Given the description of an element on the screen output the (x, y) to click on. 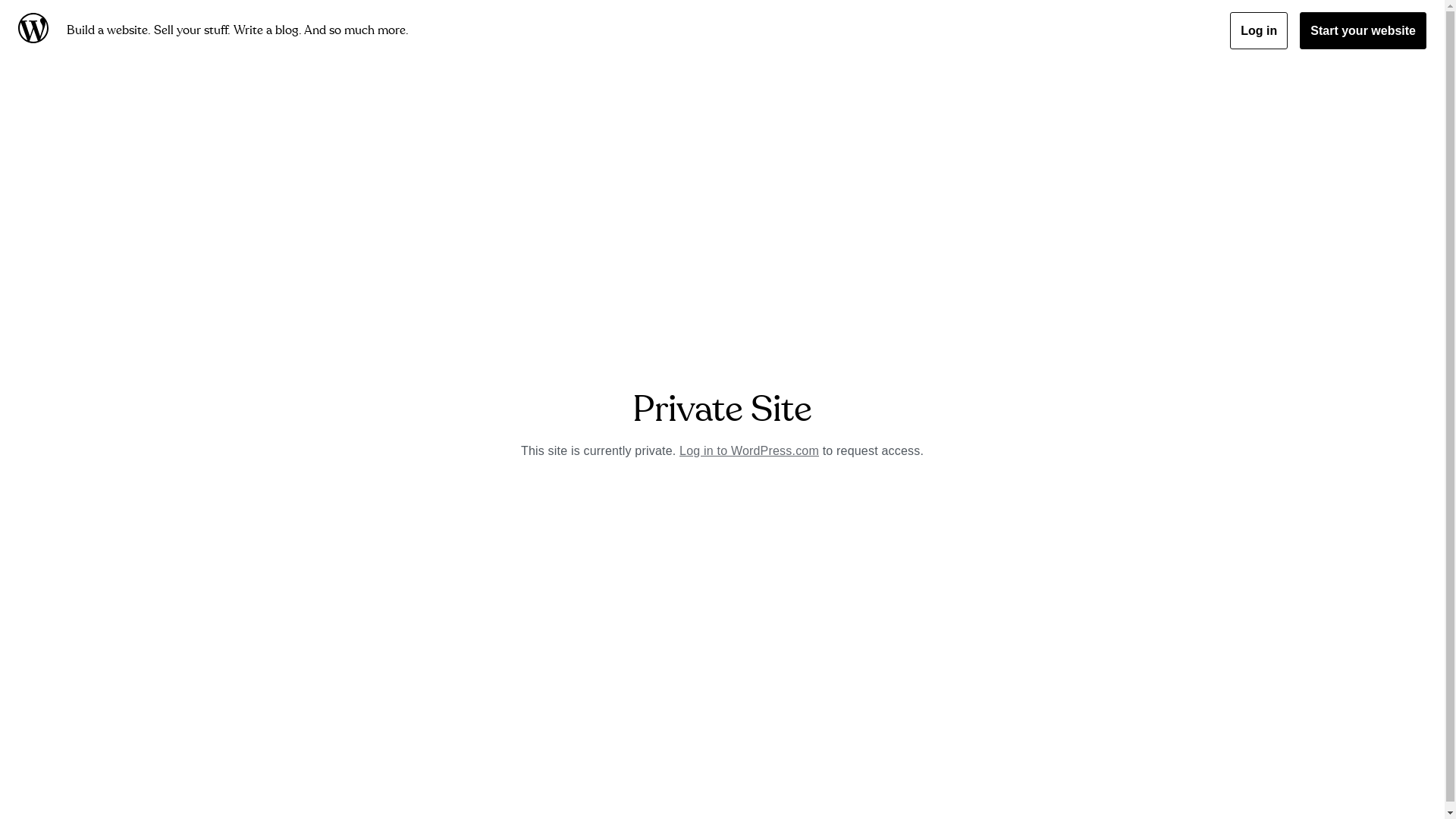
Start your website Element type: text (1362, 30)
Log in to WordPress.com Element type: text (749, 450)
Log in Element type: text (1258, 30)
WordPress.com Element type: text (36, 30)
